Given the description of an element on the screen output the (x, y) to click on. 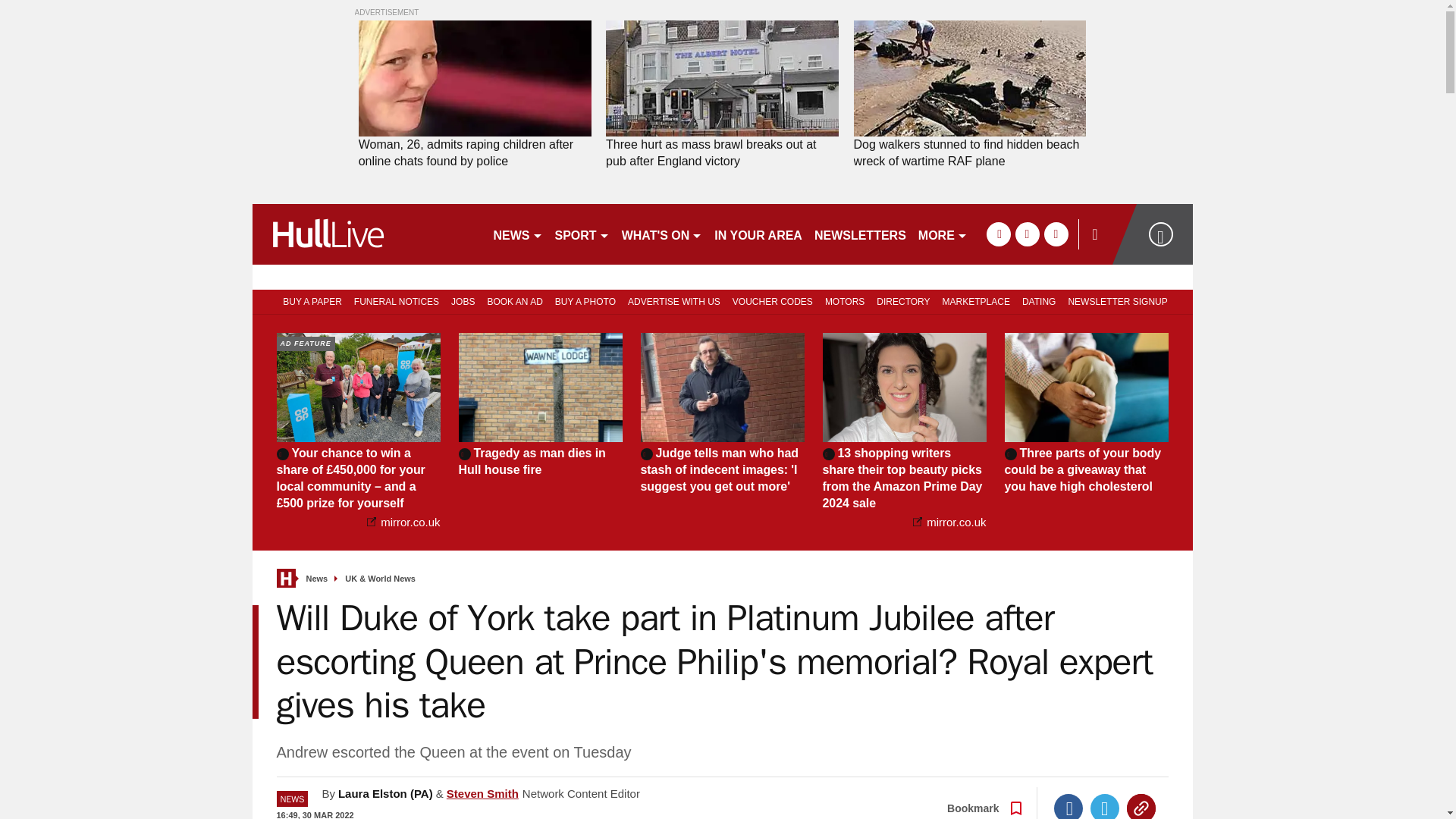
facebook (997, 233)
NEWSLETTERS (860, 233)
IN YOUR AREA (757, 233)
WHAT'S ON (662, 233)
twitter (1026, 233)
NEWS (517, 233)
SPORT (581, 233)
Twitter (1104, 806)
Facebook (1068, 806)
